Given the description of an element on the screen output the (x, y) to click on. 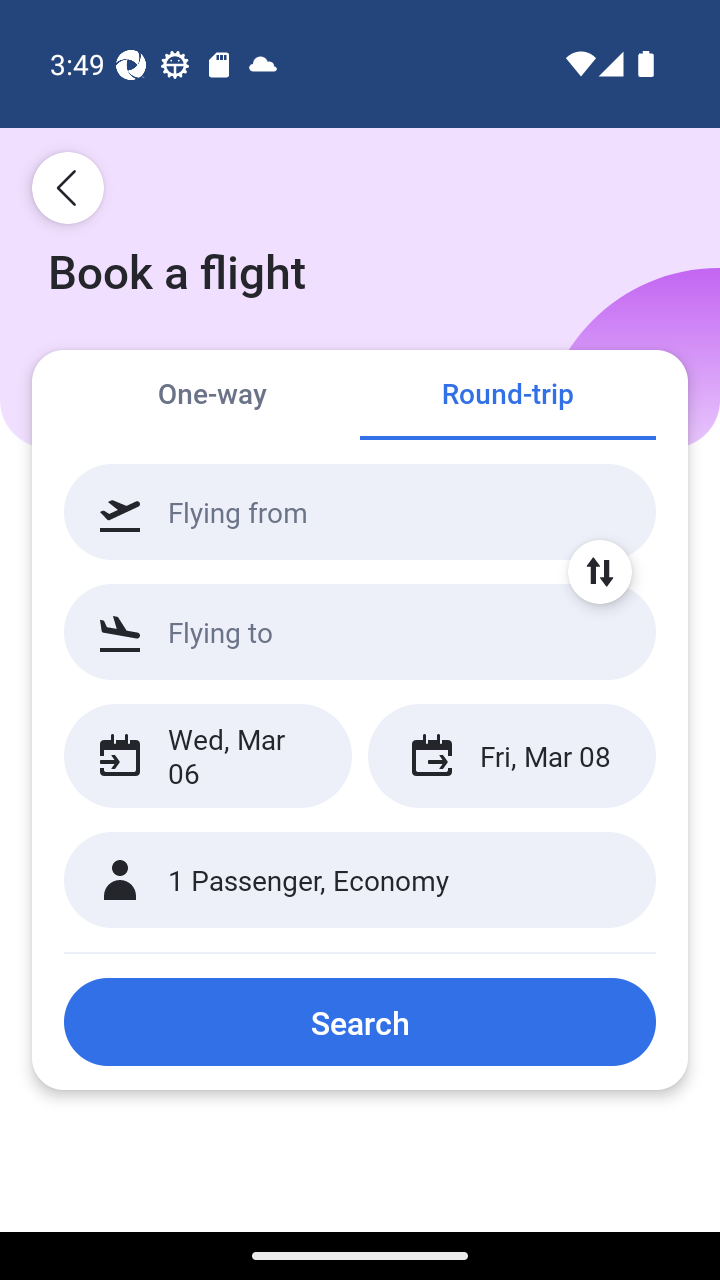
One-way (212, 394)
Flying from (359, 511)
Flying to (359, 631)
Wed, Mar 06 (208, 755)
Fri, Mar 08 (511, 755)
1 Passenger, Economy (359, 880)
Search (359, 1022)
